Given the description of an element on the screen output the (x, y) to click on. 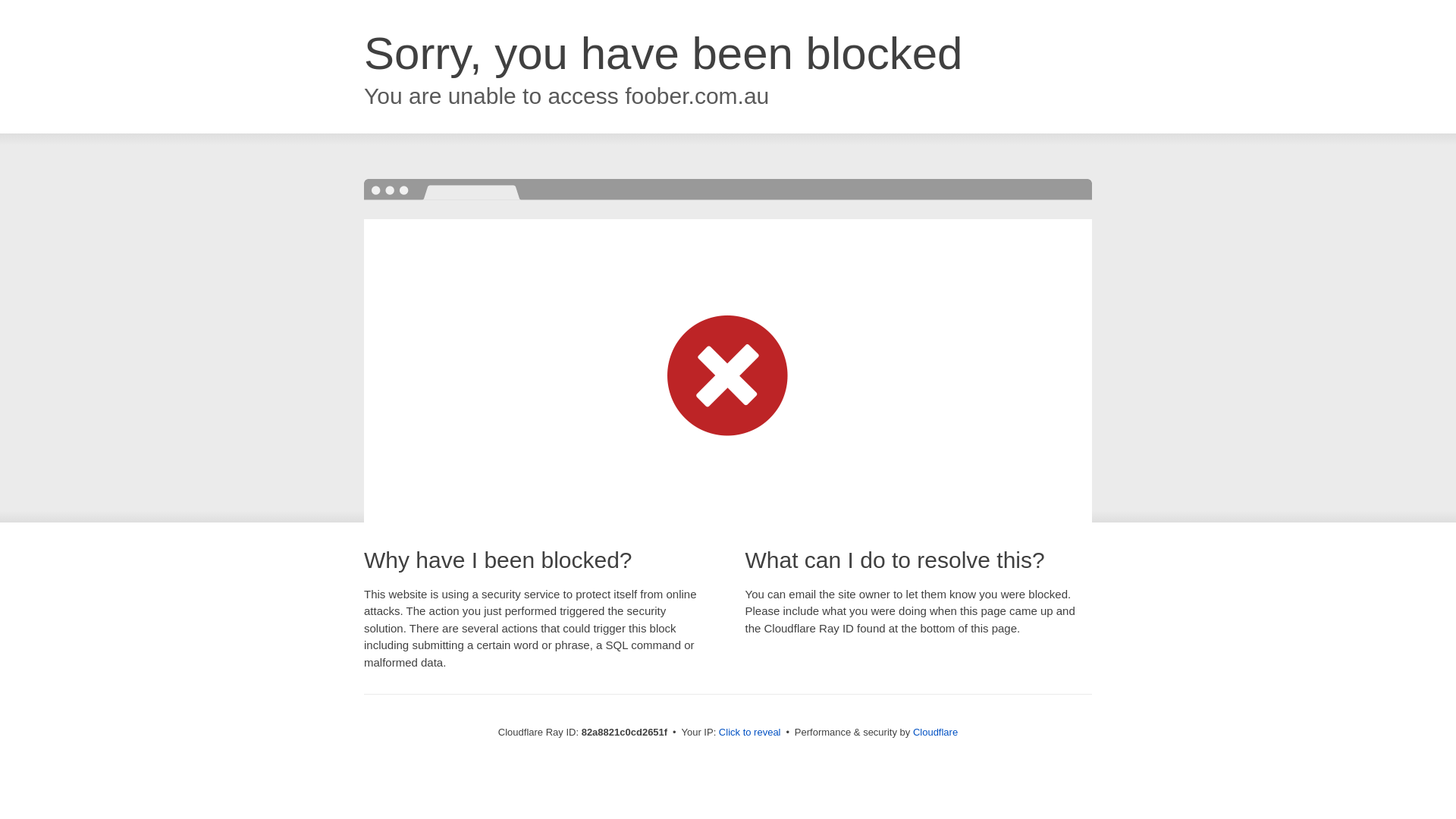
Cloudflare Element type: text (935, 731)
Click to reveal Element type: text (749, 732)
